Given the description of an element on the screen output the (x, y) to click on. 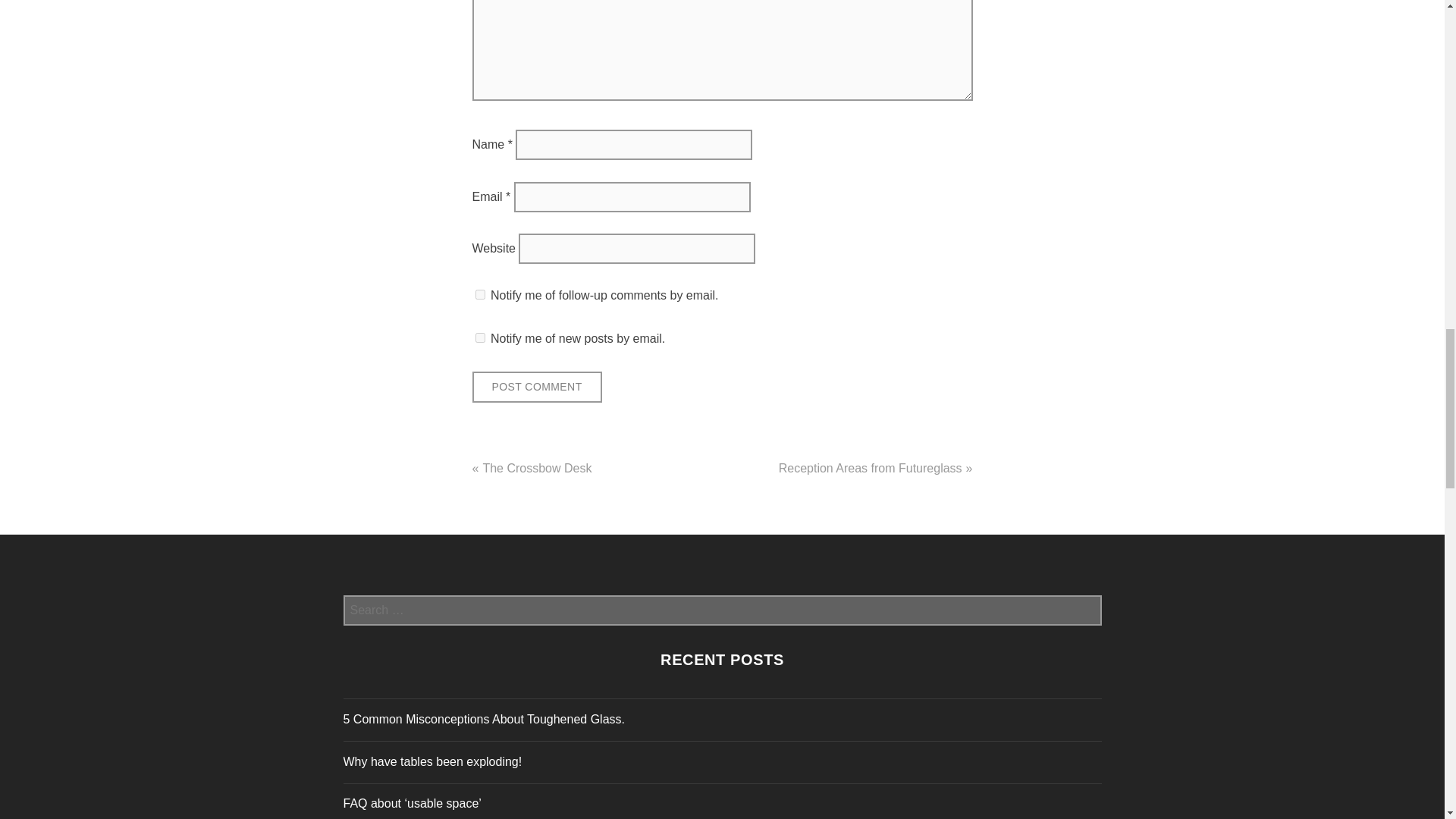
subscribe (479, 294)
Post Comment (536, 386)
Post Comment (536, 386)
Reception Areas from Futureglass (870, 468)
subscribe (479, 337)
The Crossbow Desk (536, 468)
